Given the description of an element on the screen output the (x, y) to click on. 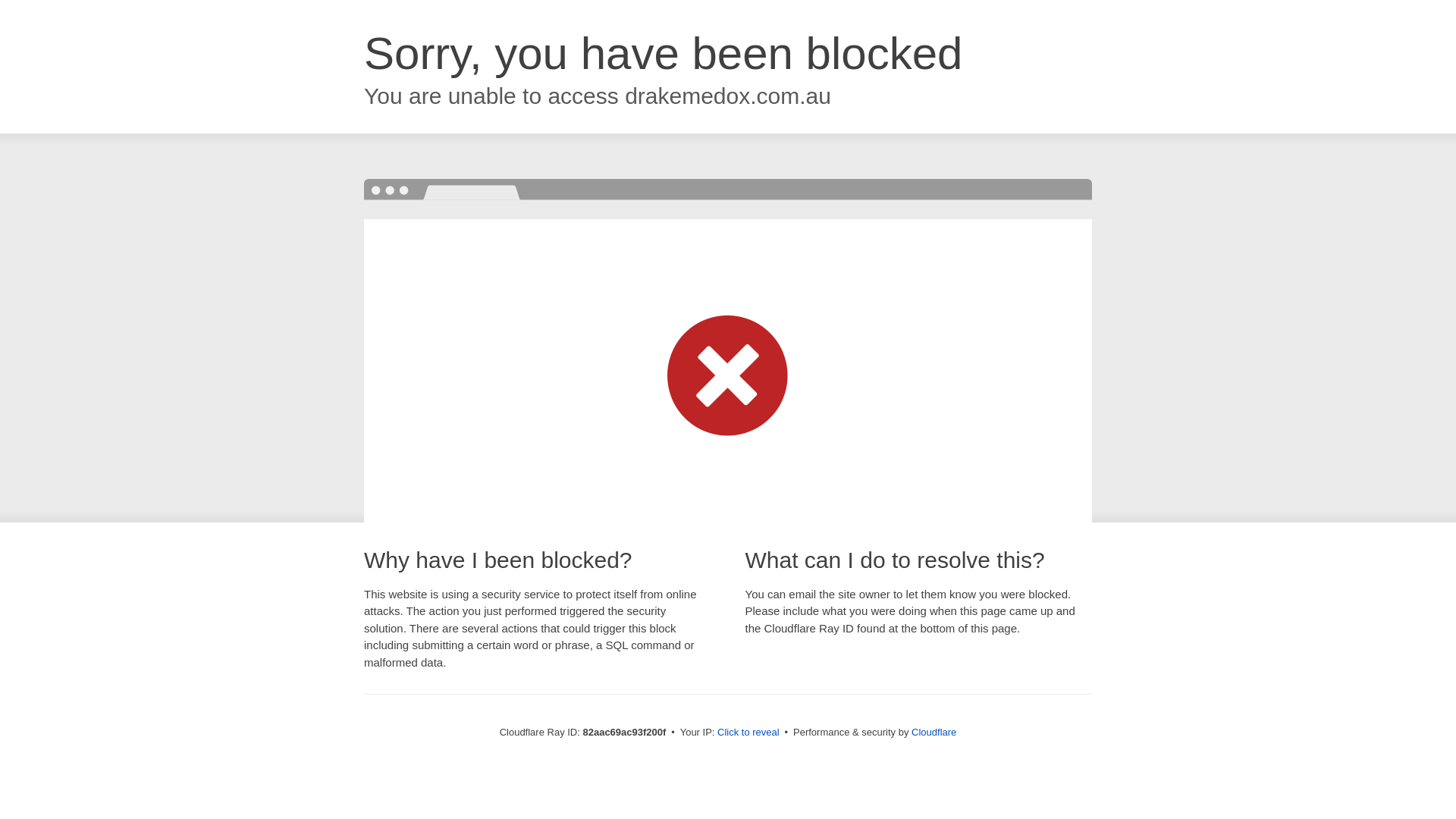
Click to reveal Element type: text (748, 732)
Cloudflare Element type: text (933, 731)
